Given the description of an element on the screen output the (x, y) to click on. 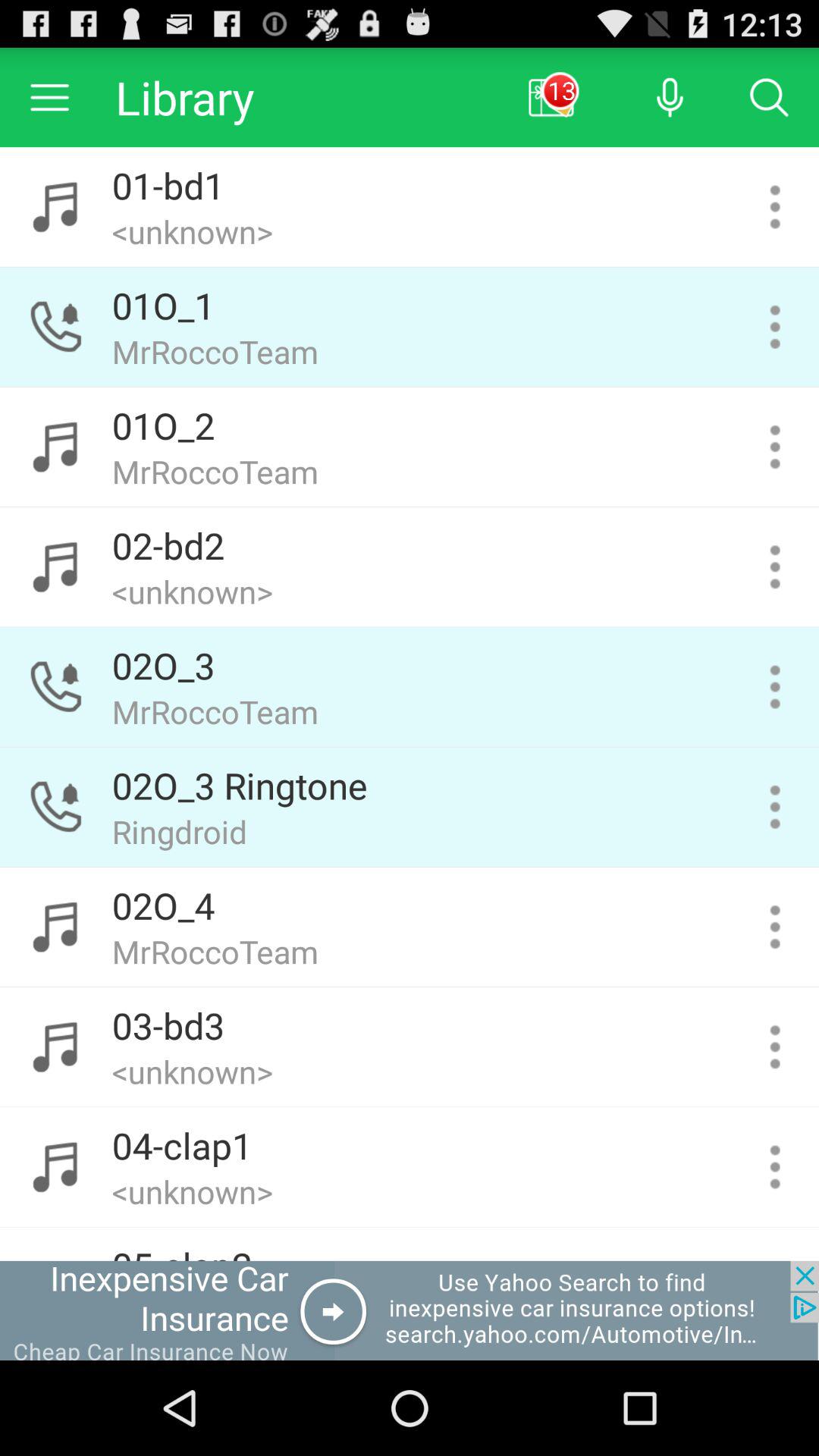
more (775, 566)
